Given the description of an element on the screen output the (x, y) to click on. 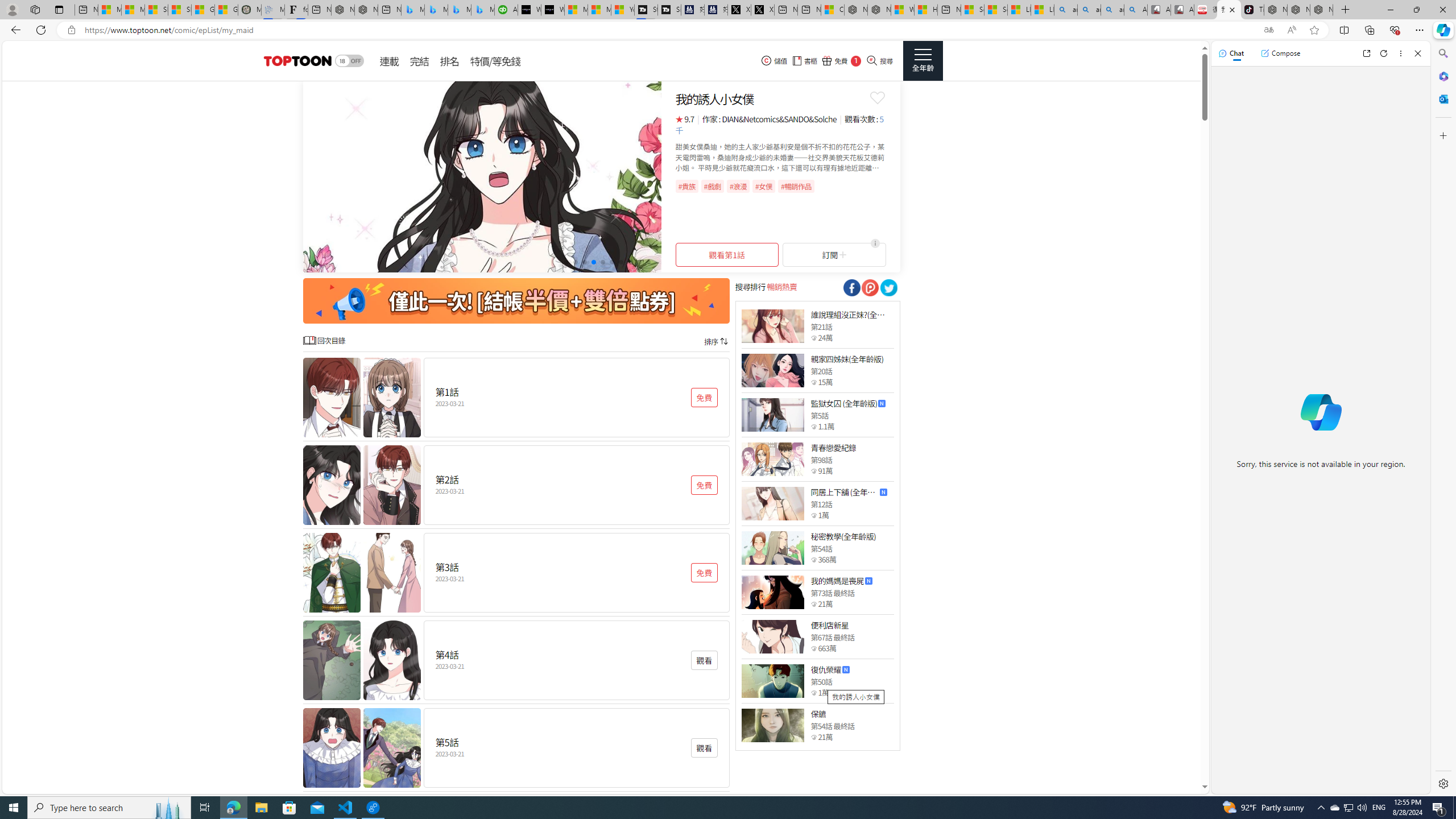
Nordace Siena Pro 15 Backpack (1298, 9)
Go to slide 3 (584, 261)
Go to slide 7 (620, 261)
Class: epicon_starpoint (813, 736)
Compose (1280, 52)
What's the best AI voice generator? - voice.ai (552, 9)
Nordace - #1 Japanese Best-Seller - Siena Smart Backpack (365, 9)
